Given the description of an element on the screen output the (x, y) to click on. 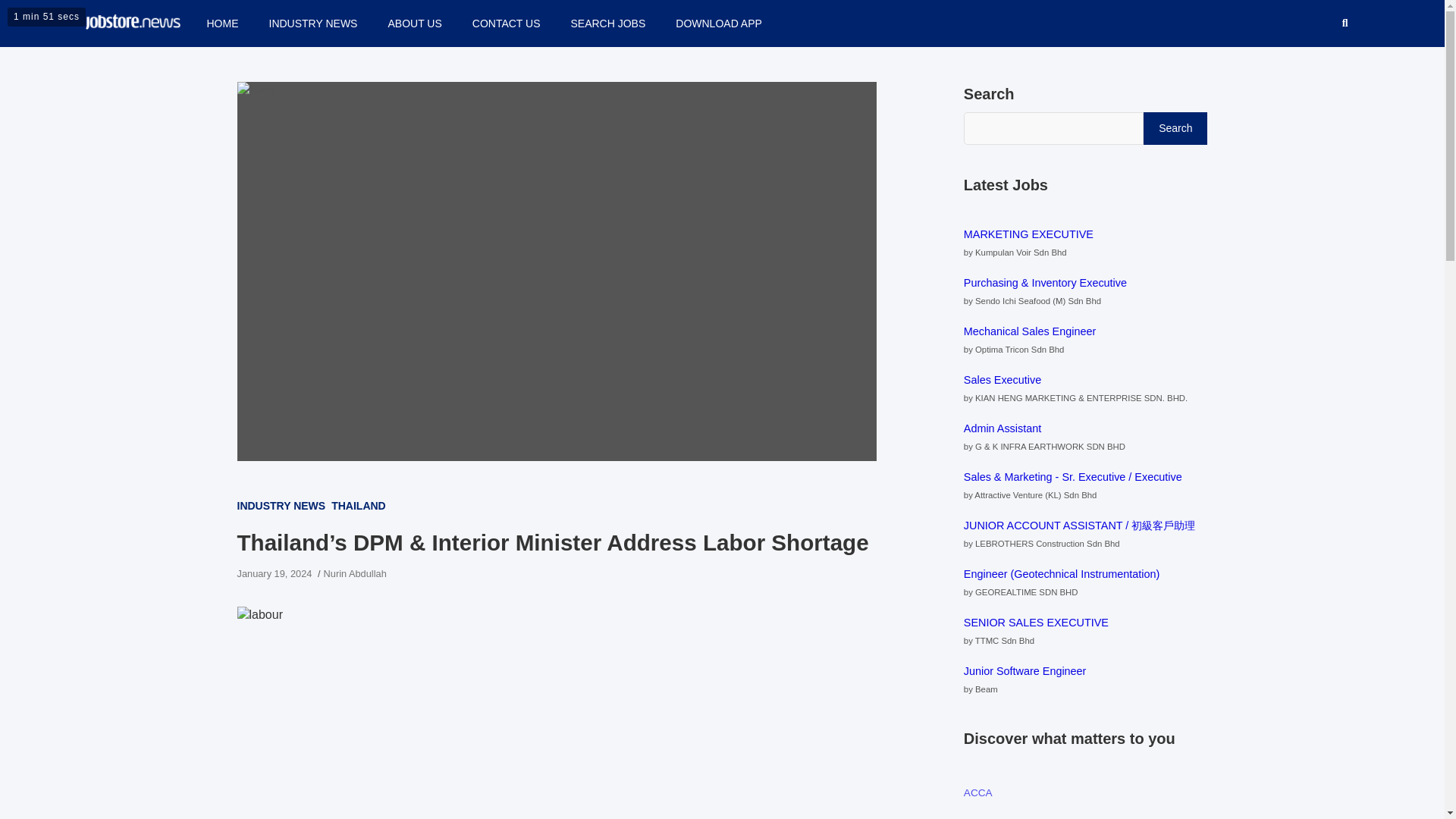
THAILAND (358, 505)
Admin Assistant (1002, 428)
HOME (221, 23)
INDUSTRY NEWS (279, 505)
Mechanical Sales Engineer (1029, 331)
INDUSTRY NEWS (312, 23)
ABOUT US (414, 23)
Search (1174, 128)
CONTACT US (506, 23)
SEARCH JOBS (607, 23)
January 19, 2024 (273, 573)
MARKETING EXECUTIVE (1028, 234)
Sales Executive (1002, 379)
DOWNLOAD APP (719, 23)
